Given the description of an element on the screen output the (x, y) to click on. 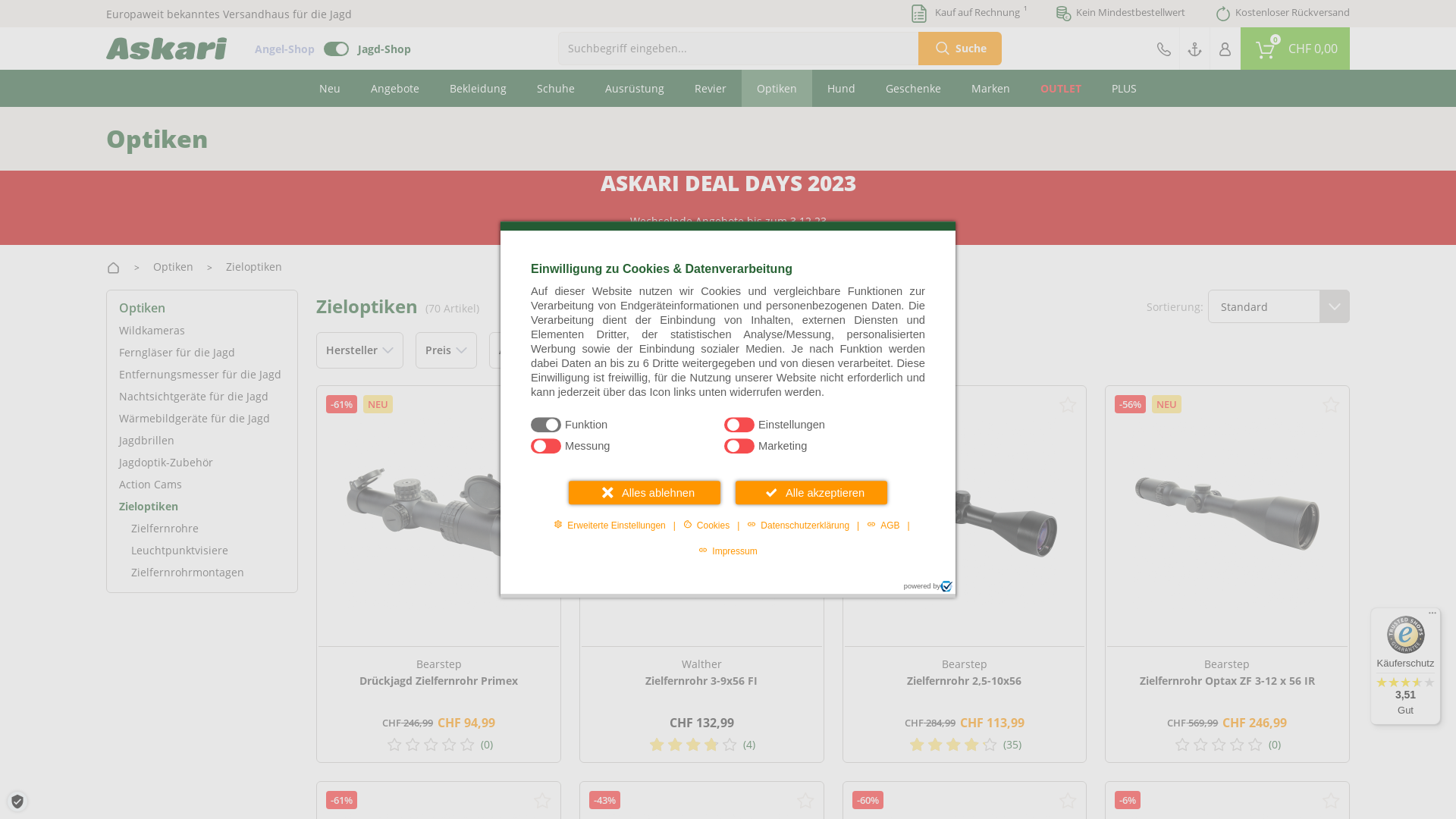
Geschenke Element type: text (913, 87)
Zieloptiken Element type: text (202, 506)
Bearstep
Zielfernrohr Optax ZF 3-12 x 56 IR Element type: text (1226, 685)
Neu Element type: text (329, 87)
(4) Element type: text (701, 744)
Auf den Merkzettel Element type: hover (1330, 404)
Optiken Element type: text (776, 87)
Kontakt Element type: hover (1163, 48)
Auf den Merkzettel Element type: hover (805, 799)
Merken Element type: hover (1194, 48)
Auf den Merkzettel Element type: hover (805, 404)
Auf den Merkzettel Element type: hover (1067, 404)
0
CHF 0,00 Element type: text (1294, 48)
Leuchtpunktvisiere Element type: text (202, 550)
(35) Element type: text (964, 744)
PLUS Element type: text (1123, 87)
Hund Element type: text (841, 87)
Jagd-Shop Element type: text (384, 48)
Zieloptiken Element type: text (253, 266)
Bekleidung Element type: text (477, 87)
Wildkameras Element type: text (202, 330)
Cookies Element type: text (706, 524)
Angebote Element type: text (394, 87)
AGB Element type: text (882, 524)
Angel-Shop Element type: text (284, 48)
Suche Element type: text (959, 48)
Auf den Merkzettel Element type: hover (542, 404)
Alles ablehnen Element type: text (644, 492)
Mehr Infos und alle Aktionen hier Element type: text (727, 236)
Walther
Zielfernrohr 3-9x56 FI Element type: text (701, 685)
(0) Element type: text (438, 744)
Bearstep Zielfernrohr 2,5-10x56 Element type: hover (964, 513)
Alle akzeptieren Element type: text (811, 492)
Optiken Element type: text (173, 266)
Auf den Merkzettel Element type: hover (542, 799)
Bearstep
Zielfernrohr 2,5-10x56 Element type: text (964, 685)
Anmelden Element type: hover (1224, 48)
Auf den Merkzettel Element type: hover (1330, 799)
Auf den Merkzettel Element type: hover (1067, 799)
OUTLET Element type: text (1060, 87)
Schuhe Element type: text (555, 87)
Zielfernrohrmontagen Element type: text (202, 572)
Zielfernrohre Element type: text (202, 528)
(0) Element type: text (1226, 744)
Impressum Element type: text (727, 550)
Bearstep Zielfernrohr Optax ZF 3-12 x 56 IR Element type: hover (1226, 513)
Erweiterte Einstellungen Element type: text (609, 524)
Walther Zielfernrohr 3-9x56 FI Element type: hover (701, 513)
Marken Element type: text (990, 87)
Jagdbrillen Element type: text (202, 440)
Revier Element type: text (710, 87)
Datenschutz-Einstellungen Element type: hover (17, 801)
Action Cams Element type: text (202, 484)
